Given the description of an element on the screen output the (x, y) to click on. 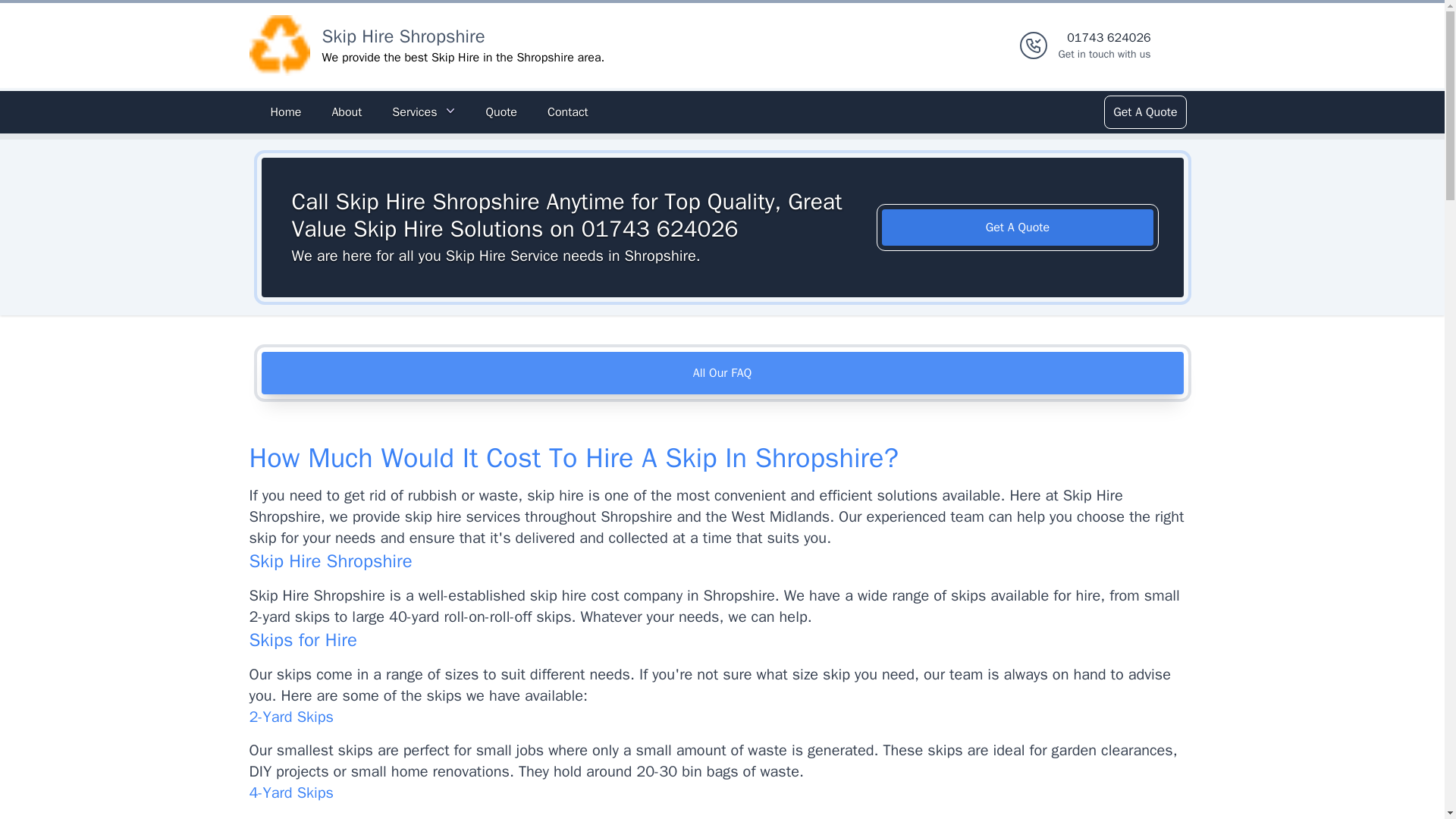
Services (423, 112)
All Our FAQ (721, 372)
Get A Quote (1017, 227)
Home (285, 112)
Skip Hire Shropshire (402, 36)
Logo (278, 45)
Contact (1104, 45)
About (567, 112)
Quote (346, 112)
